Given the description of an element on the screen output the (x, y) to click on. 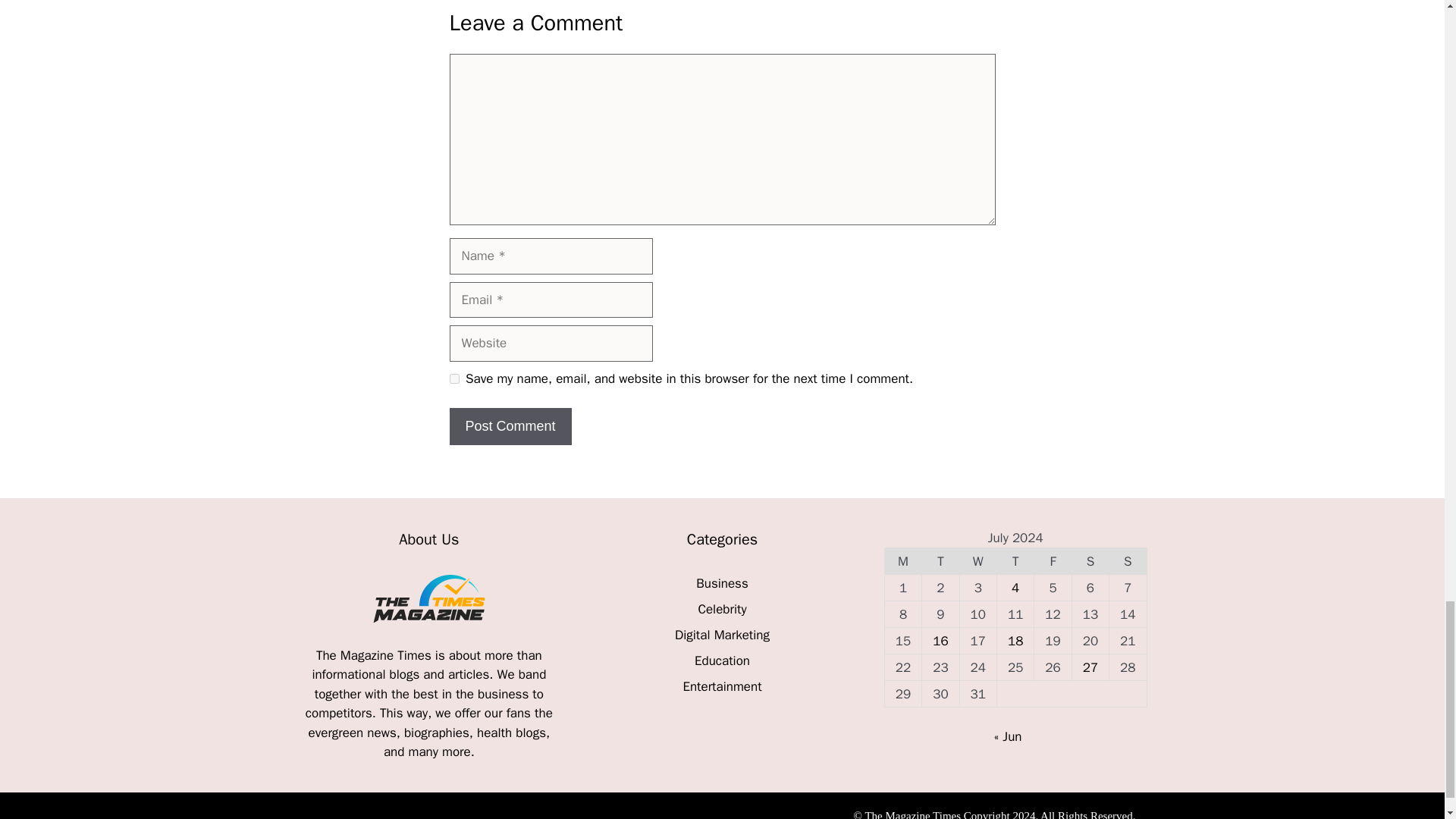
Wednesday (977, 560)
Tuesday (940, 560)
Saturday (1089, 560)
Post Comment (509, 426)
yes (453, 378)
Post Comment (509, 426)
Monday (902, 560)
Thursday (1014, 560)
Sunday (1128, 560)
Friday (1052, 560)
